Given the description of an element on the screen output the (x, y) to click on. 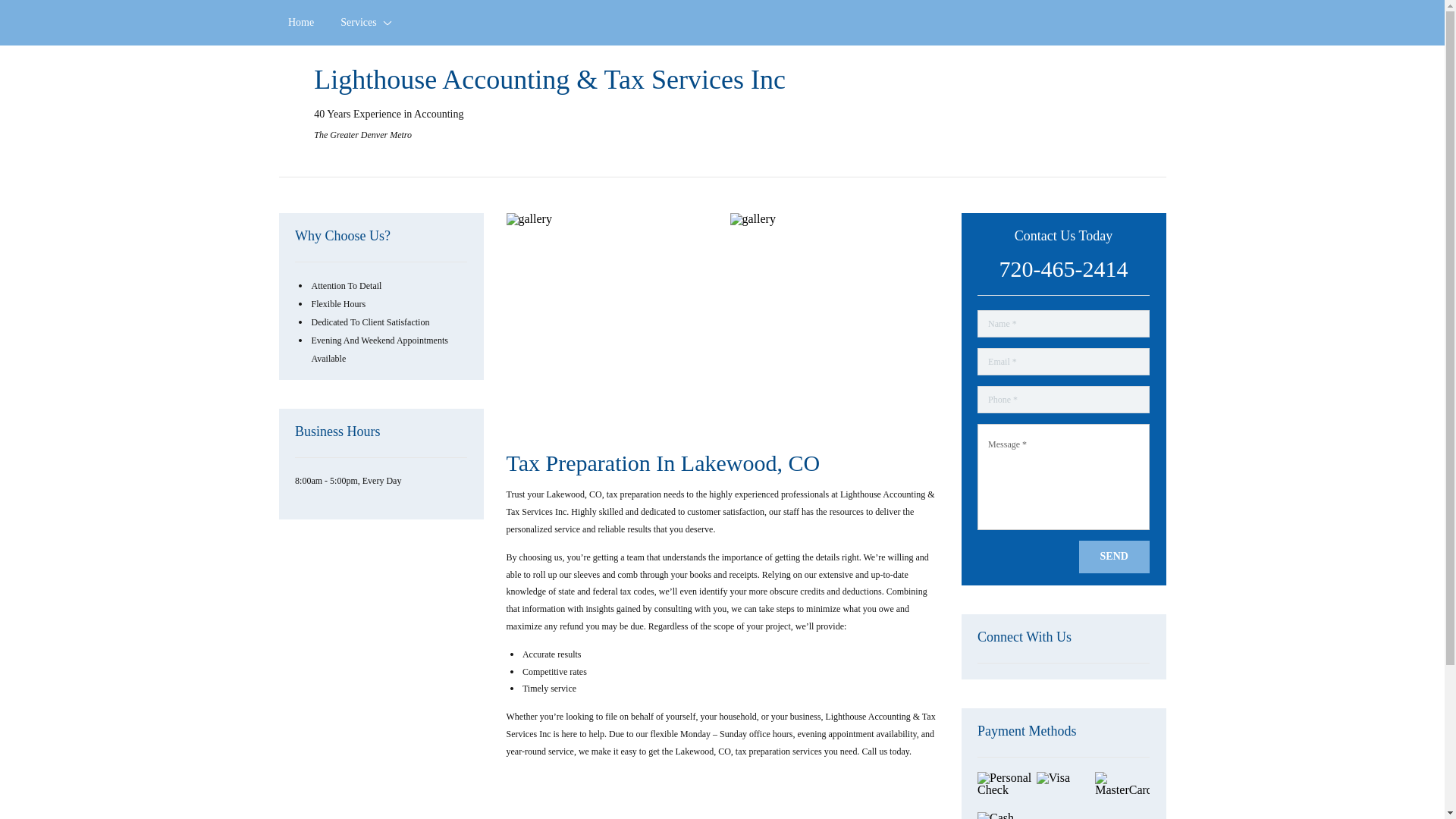
Services (364, 22)
MasterCard (1122, 790)
SEND (1114, 556)
Personal Check (1004, 790)
Cash (1004, 815)
Home (301, 22)
Visa (1063, 790)
